Given the description of an element on the screen output the (x, y) to click on. 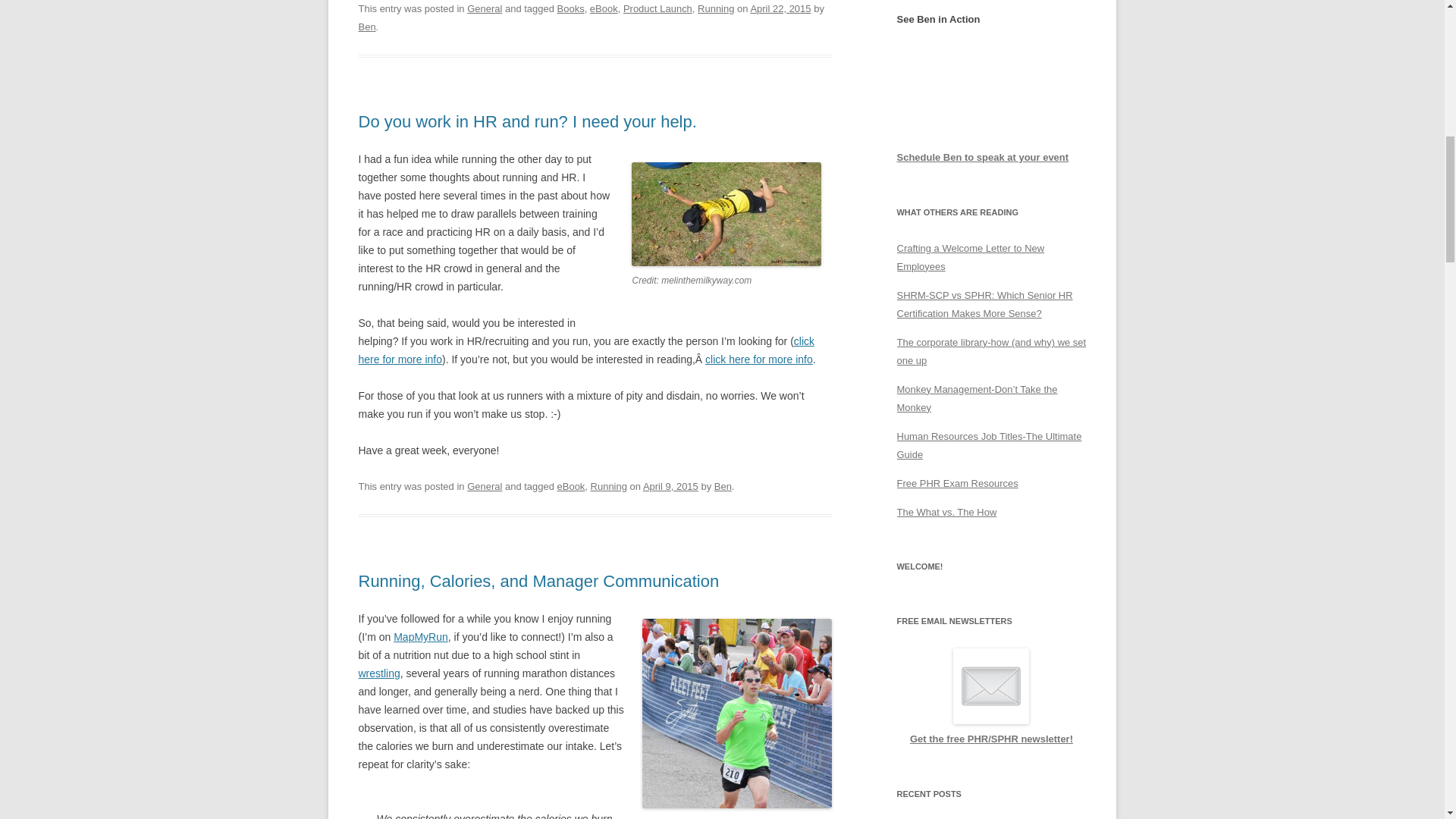
April 9, 2015 (670, 486)
Product Launch (658, 8)
Running (609, 486)
click here for more info (758, 358)
8:30 am (670, 486)
General (484, 486)
Ben (723, 486)
General (484, 8)
Do you work in HR and run? I need your help. (526, 121)
Books (571, 8)
